Given the description of an element on the screen output the (x, y) to click on. 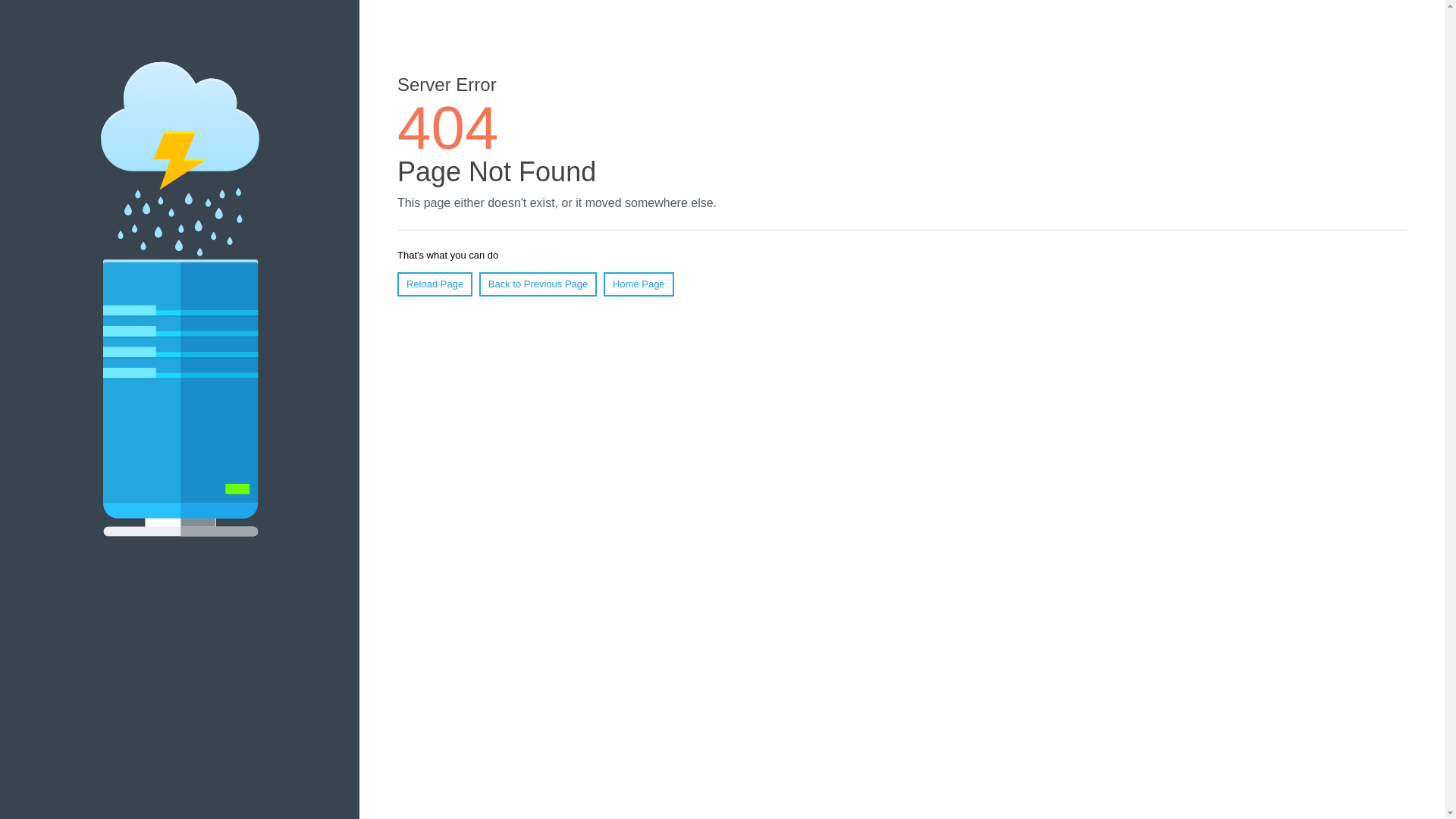
Back to Previous Page Element type: text (538, 284)
Reload Page Element type: text (434, 284)
Home Page Element type: text (638, 284)
